Given the description of an element on the screen output the (x, y) to click on. 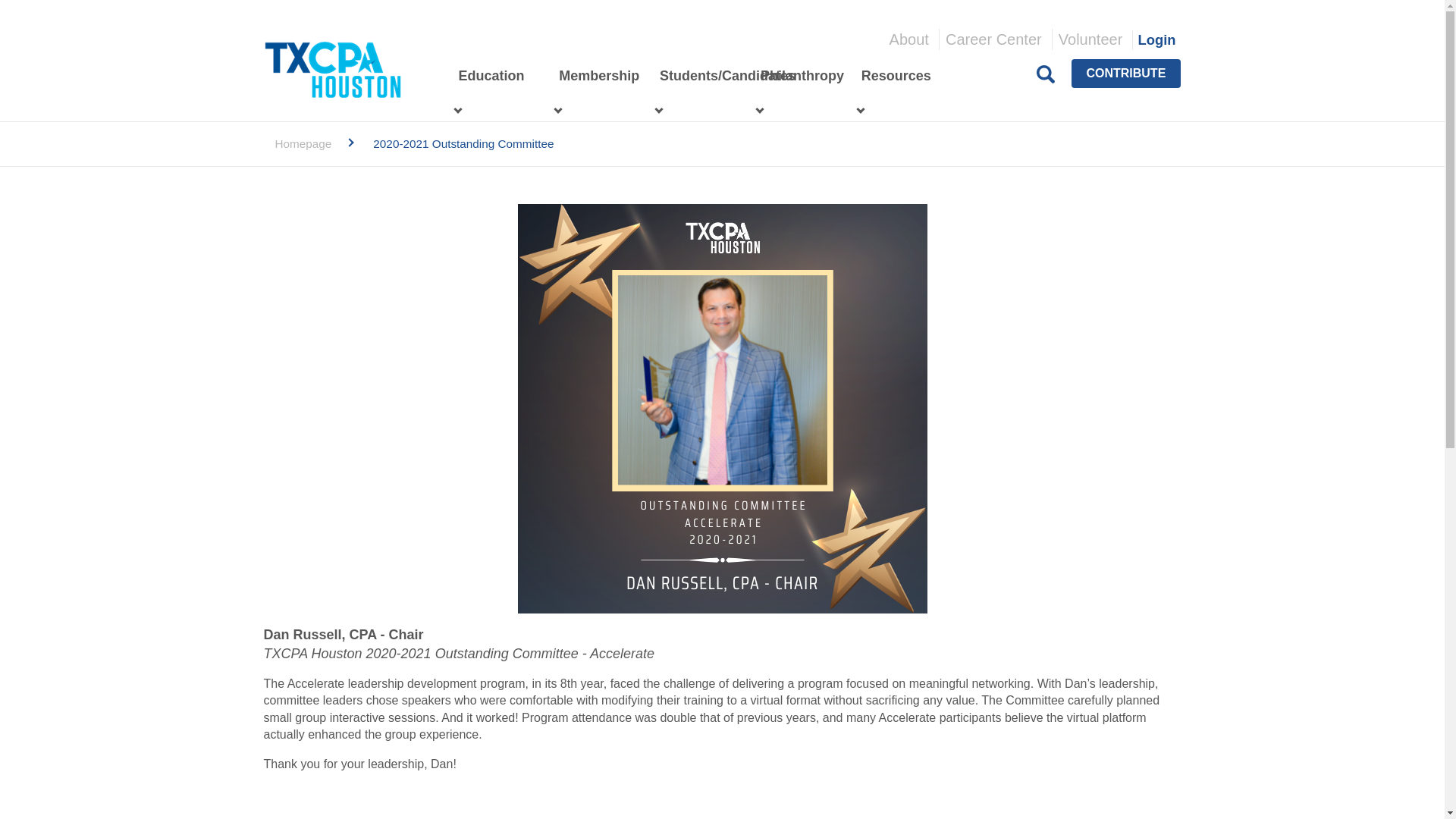
CONTRIBUTE (1125, 72)
Search (1045, 74)
Education (484, 75)
Membership (593, 75)
TXCPA Houston (331, 68)
